Given the description of an element on the screen output the (x, y) to click on. 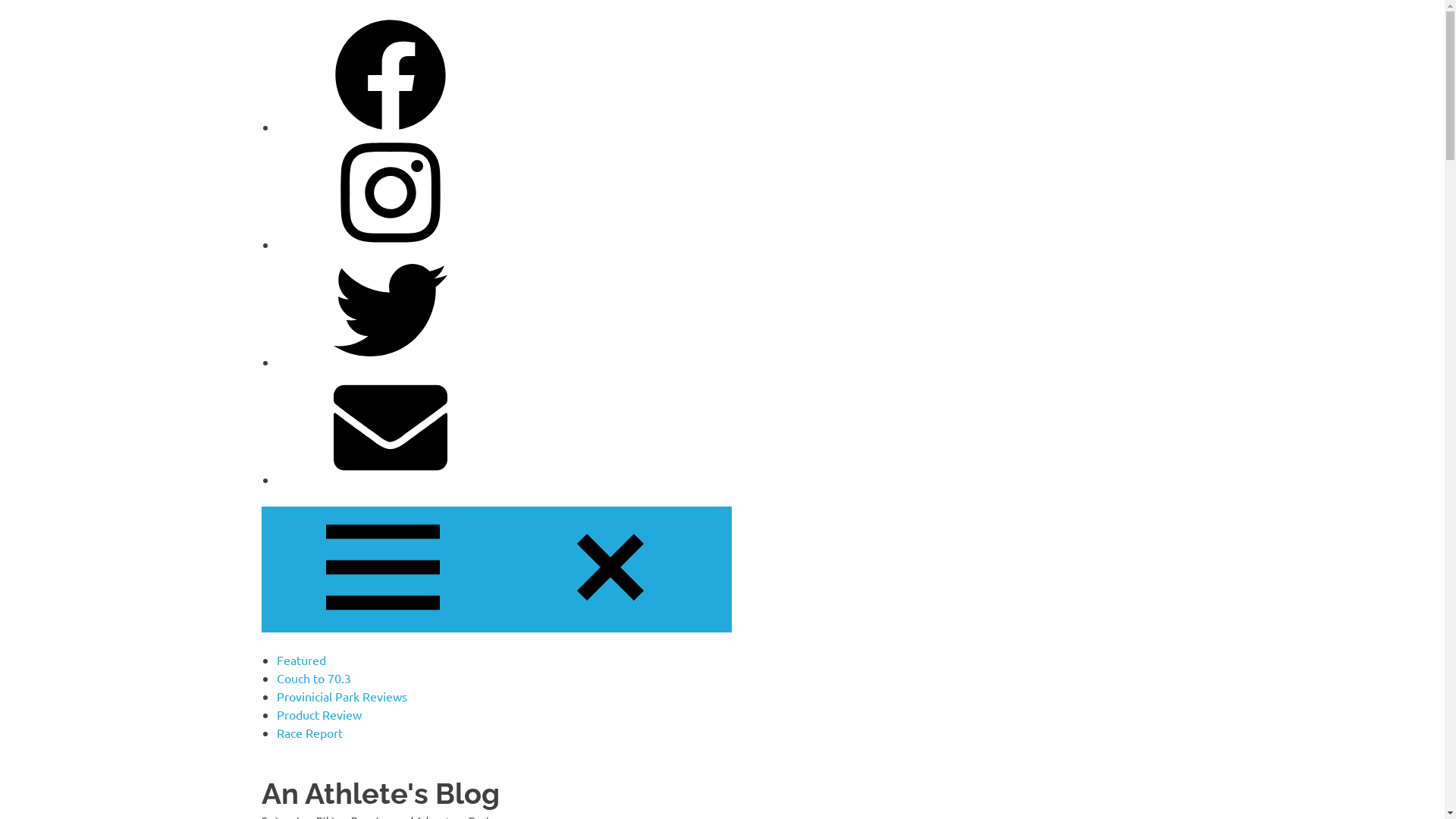
An Athlete's Blog Element type: text (379, 793)
Instagram Element type: text (389, 243)
Email Element type: text (389, 478)
Couch to 70.3 Element type: text (313, 677)
MENU Element type: text (495, 569)
Provinicial Park Reviews Element type: text (341, 695)
Twitter Element type: text (389, 361)
Featured Element type: text (300, 659)
Product Review Element type: text (318, 713)
Facebook Element type: text (389, 126)
Race Report Element type: text (309, 732)
